Given the description of an element on the screen output the (x, y) to click on. 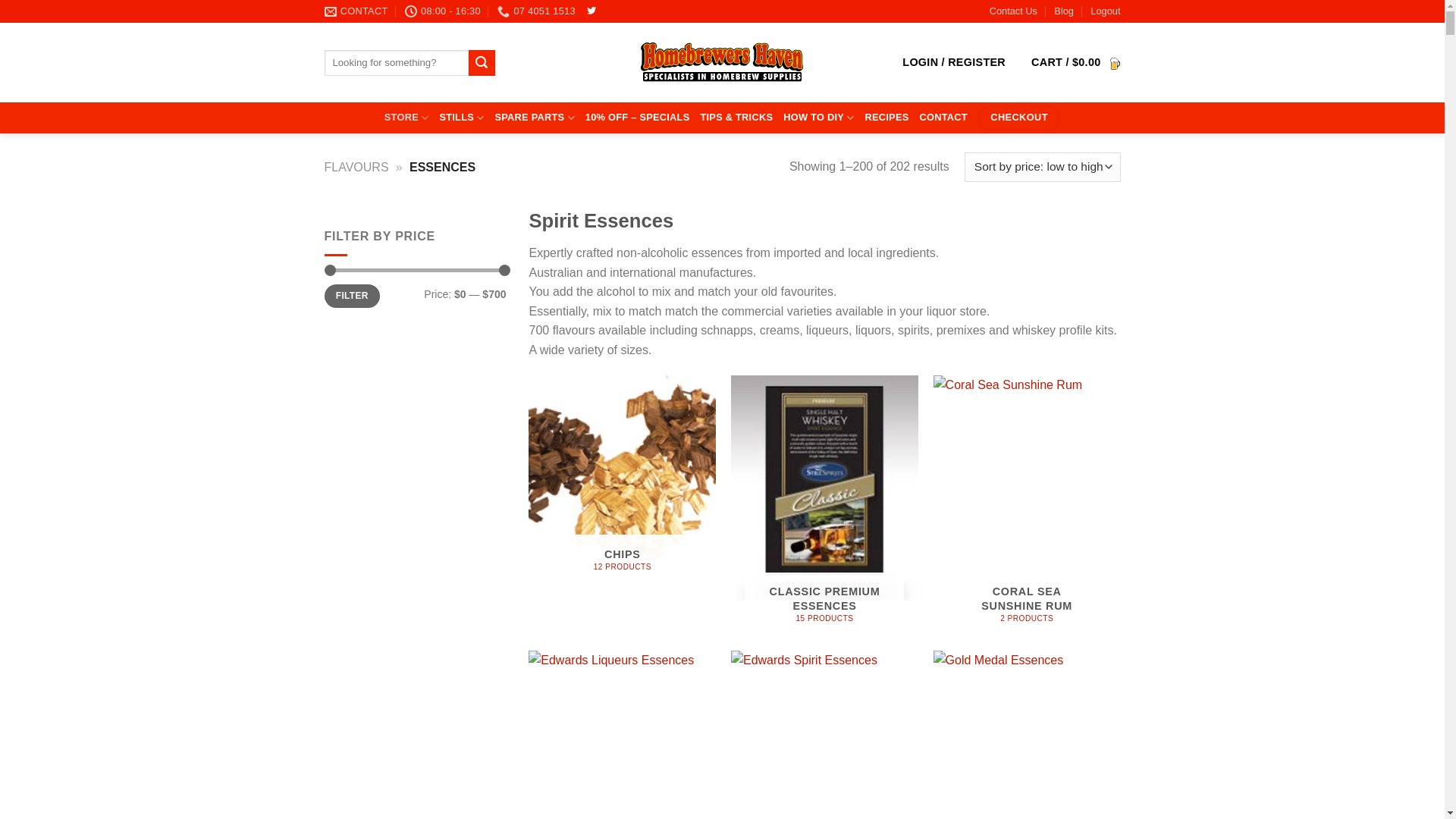
Blog Element type: text (1063, 11)
Homebrewers Haven - Australian Home Brewing Supplies Element type: hover (722, 62)
CHECKOUT Element type: text (1019, 117)
08:00 - 16:30 Element type: text (442, 11)
HOW TO DIY Element type: text (818, 117)
STILLS Element type: text (461, 117)
TIPS & TRICKS Element type: text (735, 117)
Logout Element type: text (1105, 11)
CORAL SEA SUNSHINE RUM
2 PRODUCTS Element type: text (1026, 505)
LOGIN / REGISTER Element type: text (953, 62)
Search Element type: text (481, 62)
FILTER Element type: text (351, 295)
Skip to content Element type: text (0, 0)
FLAVOURS Element type: text (356, 166)
Follow on Twitter Element type: hover (591, 11)
CHIPS
12 PRODUCTS Element type: text (621, 479)
SPARE PARTS Element type: text (534, 117)
07 4051 1513 Element type: text (536, 11)
STORE Element type: text (406, 117)
RECIPES Element type: text (886, 117)
CLASSIC PREMIUM ESSENCES
15 PRODUCTS Element type: text (824, 505)
CONTACT Element type: text (942, 117)
Contact Us Element type: text (1013, 11)
CART / $0.00 Element type: text (1075, 62)
CONTACT Element type: text (356, 11)
